Given the description of an element on the screen output the (x, y) to click on. 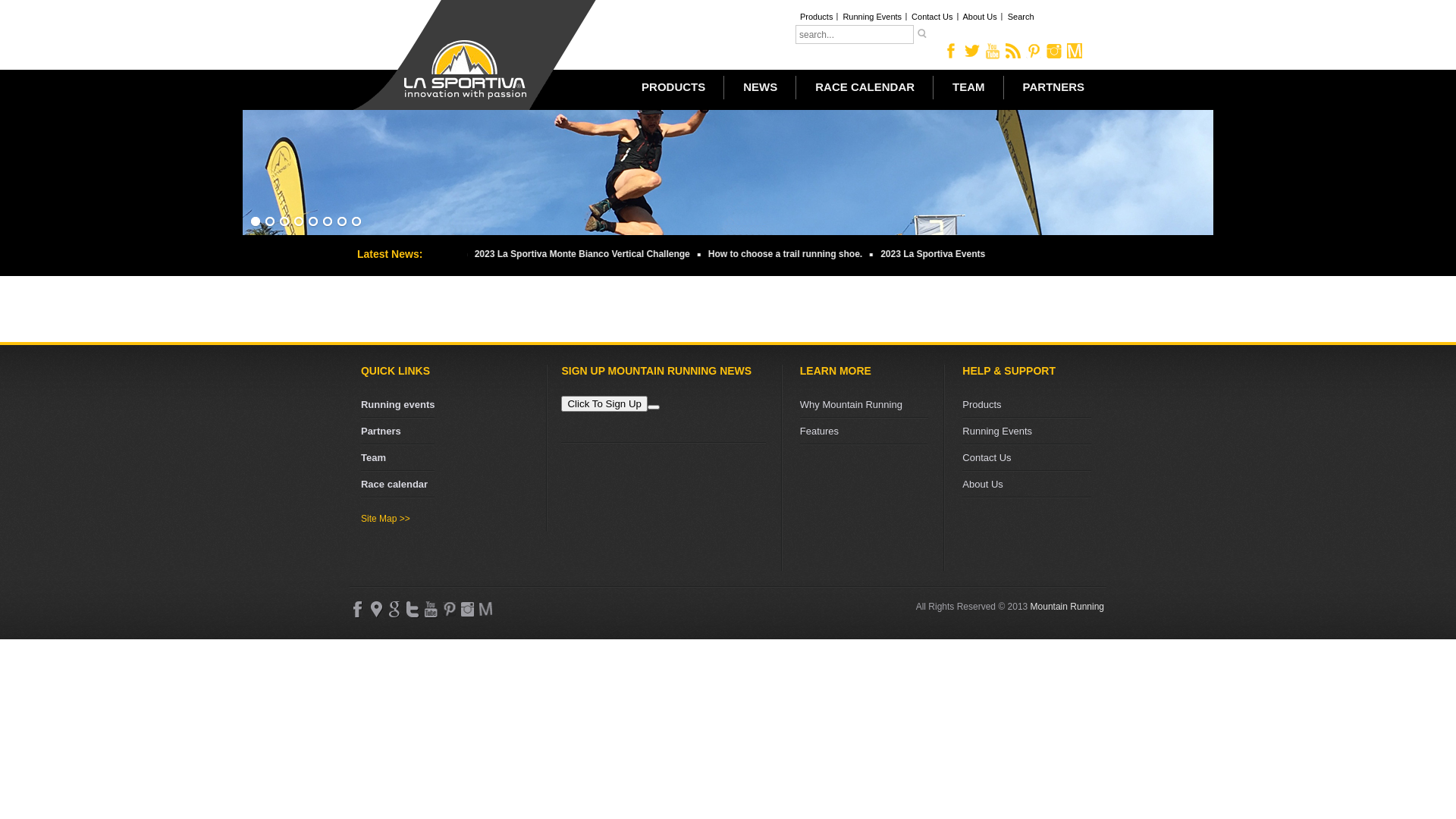
Click To Sign Up Element type: text (604, 403)
Google Plus Element type: hover (394, 609)
RACE CALENDAR Element type: text (864, 87)
About Us Element type: text (1026, 484)
Running events Element type: text (397, 405)
Pinterest Element type: hover (1033, 50)
Team Element type: text (397, 458)
How to choose a trail running shoe. Element type: text (734, 253)
Contact Us Element type: text (1026, 458)
Running Events Element type: text (871, 16)
Partners Element type: text (397, 431)
TEAM Element type: text (968, 87)
About Us Element type: text (980, 16)
NEWS Element type: text (760, 87)
Instagram Element type: hover (467, 609)
Facebook Element type: hover (951, 50)
Race calendar Element type: text (397, 484)
Youtube Element type: hover (430, 609)
Products Element type: text (1026, 405)
Running Events Element type: text (1026, 431)
Pinterest Element type: hover (448, 609)
Instagram Element type: hover (1053, 50)
Products Element type: text (816, 16)
RSS Element type: hover (1012, 50)
Twitter Element type: hover (971, 50)
Facebook Element type: hover (357, 609)
Why Mountain Running Element type: text (864, 405)
YouTube Element type: hover (992, 51)
Click To Sign Up Element type: text (610, 403)
Features Element type: text (864, 431)
Mountain Running Element type: text (1067, 606)
Contact Us Element type: text (931, 16)
2023 La Sportiva Monte Bianco Vertical Challenge Element type: text (530, 253)
Map Element type: hover (376, 609)
Movescount Element type: hover (1074, 50)
Twitter Element type: hover (412, 609)
Movescount Element type: hover (485, 609)
PARTNERS Element type: text (1053, 87)
Site Map >> Element type: text (447, 518)
2023 La Sportiva Events Element type: text (883, 253)
PRODUCTS Element type: text (673, 87)
